Given the description of an element on the screen output the (x, y) to click on. 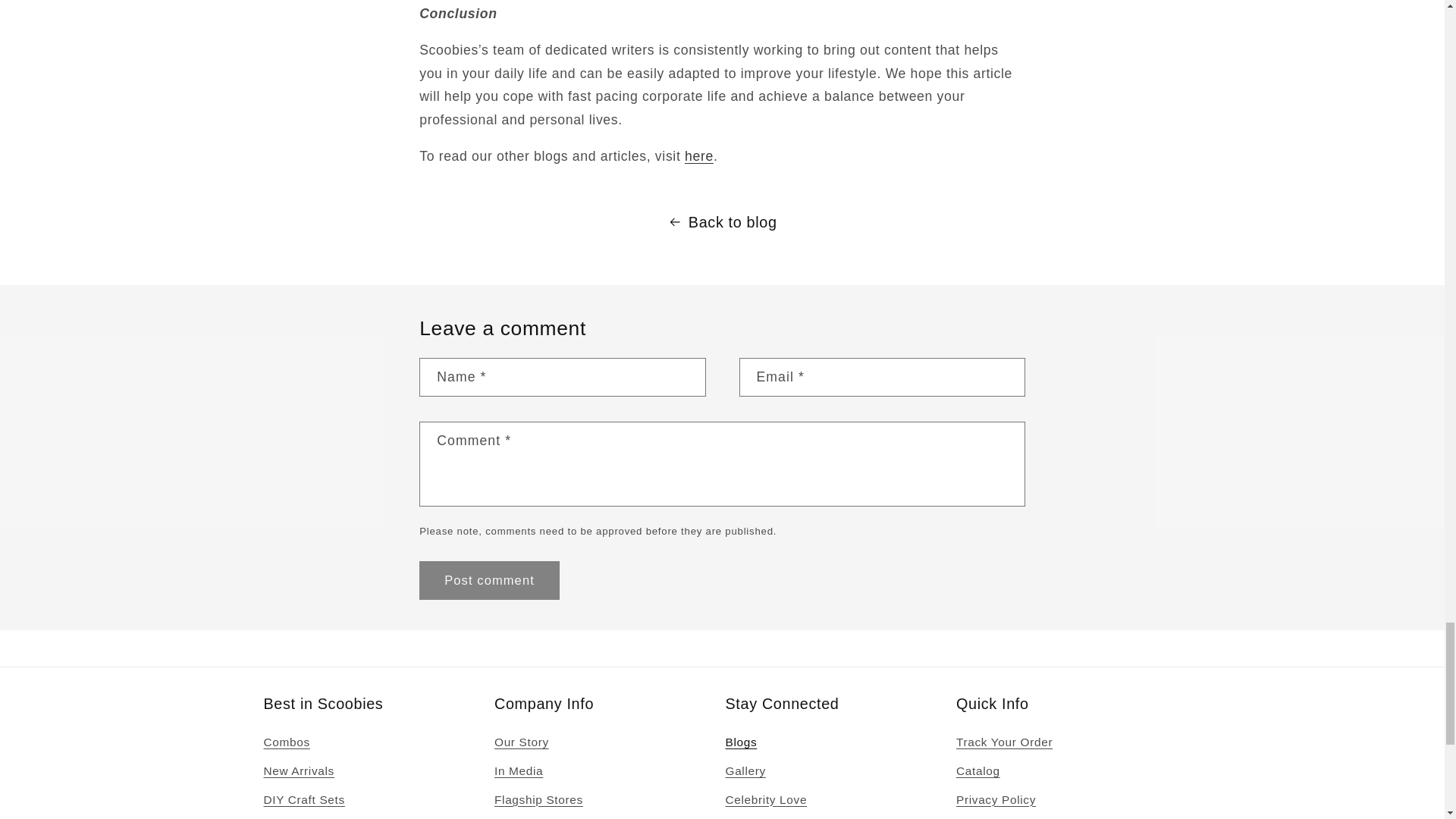
Post comment (489, 580)
